Given the description of an element on the screen output the (x, y) to click on. 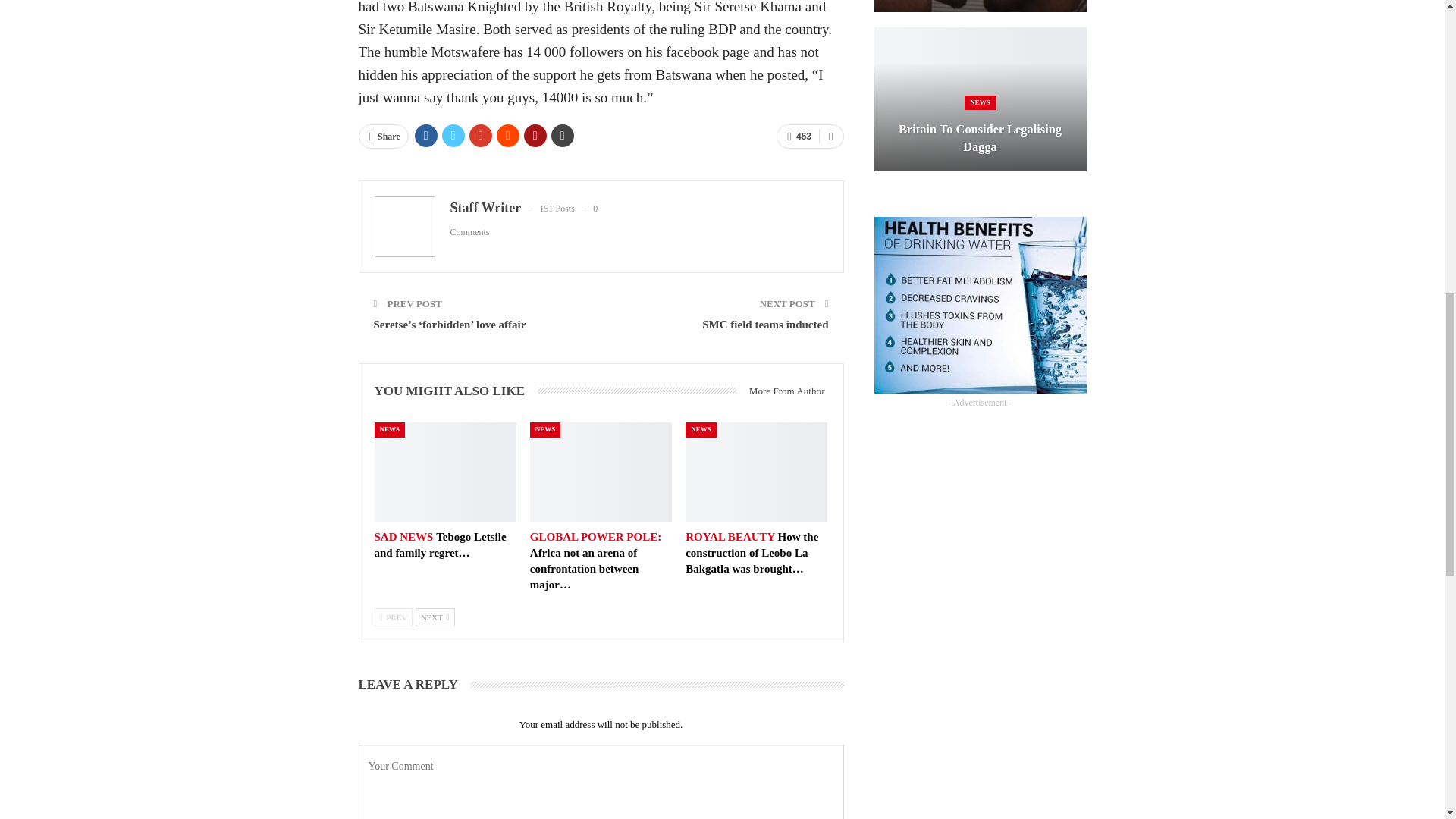
Next (434, 617)
Previous (393, 617)
